Given the description of an element on the screen output the (x, y) to click on. 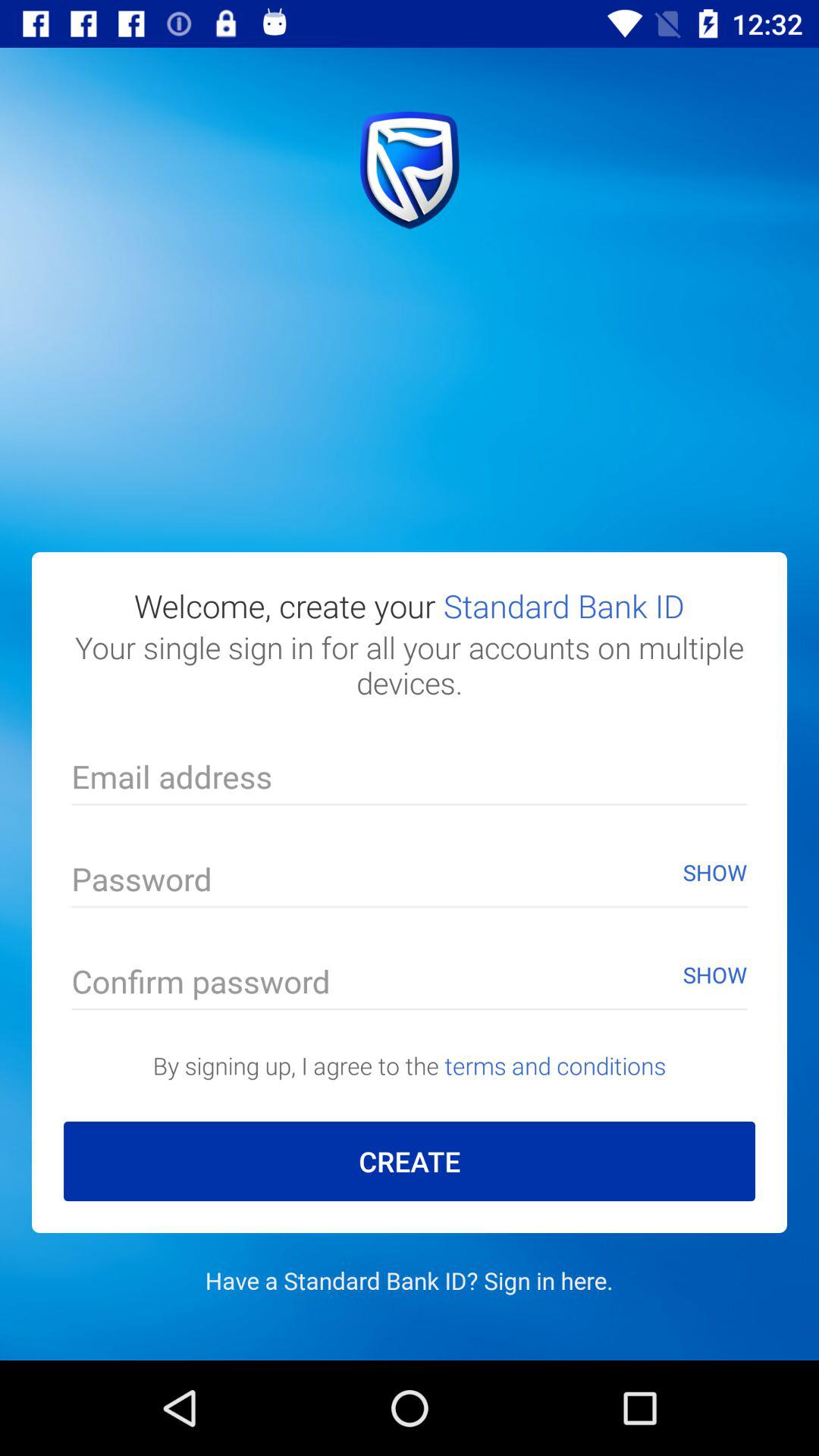
text input area (409, 780)
